Given the description of an element on the screen output the (x, y) to click on. 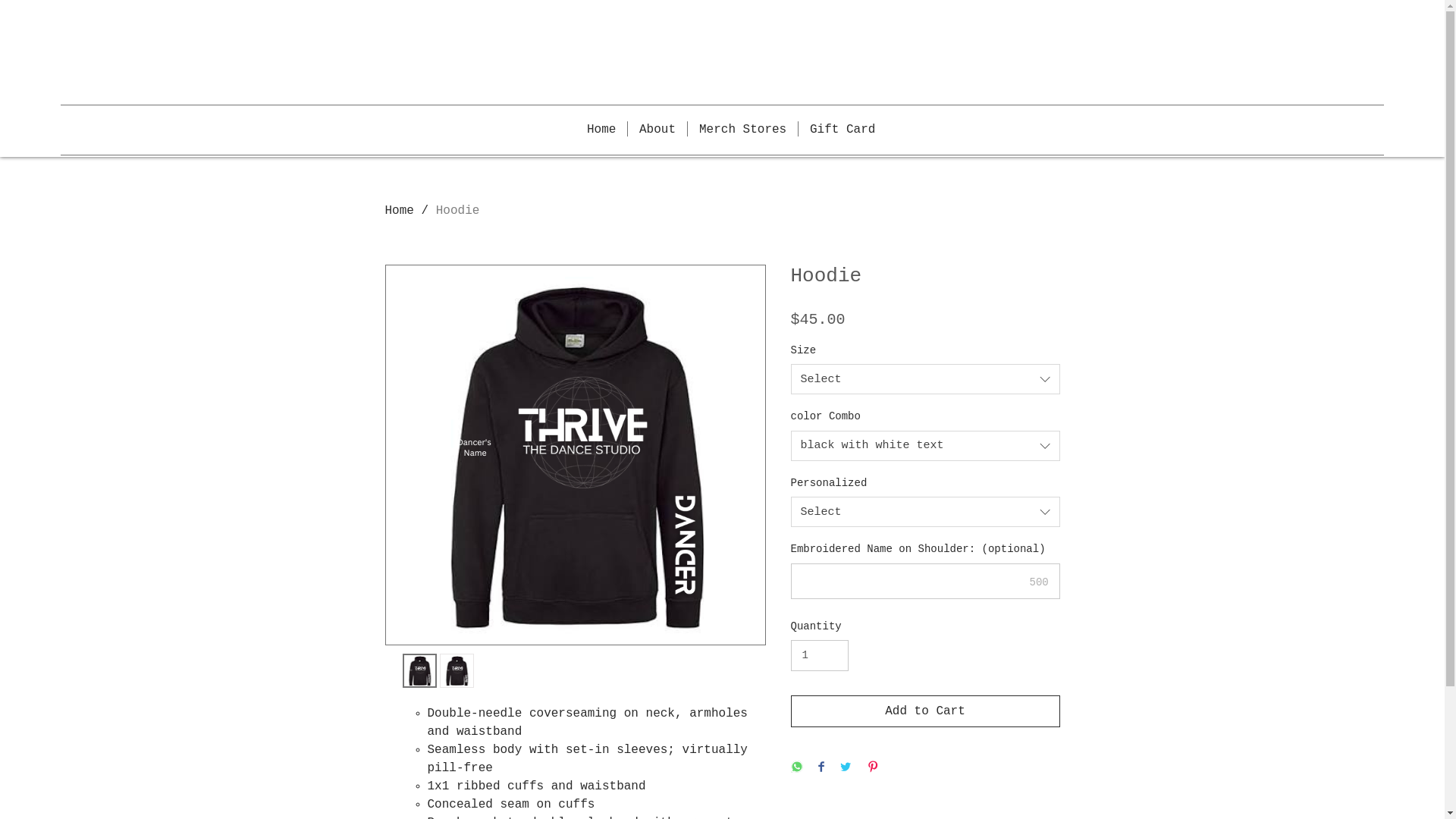
Hoodie Element type: text (458, 210)
black with white text Element type: text (924, 445)
Home Element type: text (601, 128)
Select Element type: text (924, 511)
Home Element type: text (399, 210)
About Element type: text (657, 128)
Gift Card Element type: text (842, 128)
Select Element type: text (924, 379)
Add to Cart Element type: text (924, 711)
Merch Stores Element type: text (742, 128)
